Given the description of an element on the screen output the (x, y) to click on. 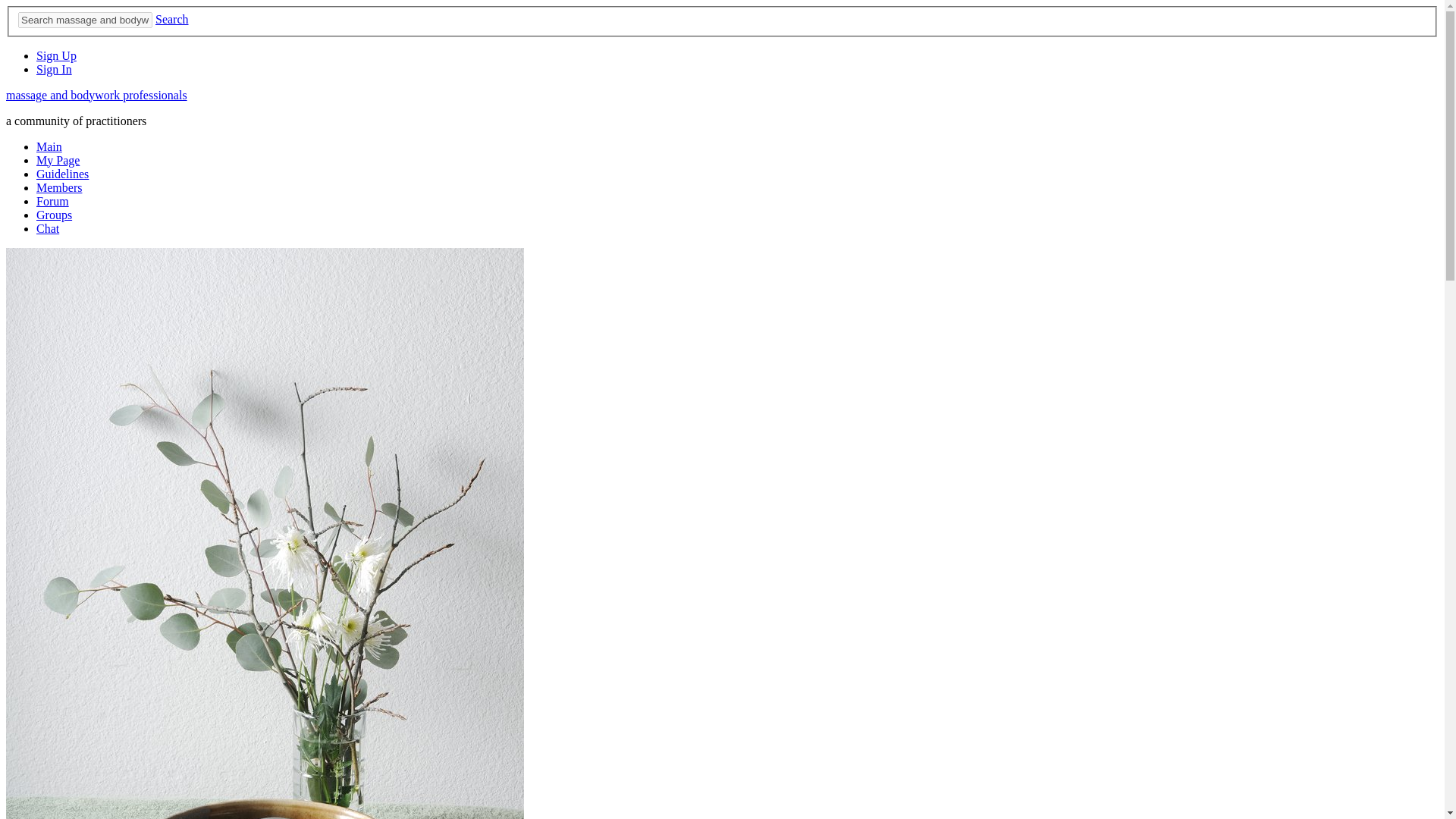
Forum (52, 201)
Guidelines (62, 173)
Members (58, 187)
Chat (47, 228)
Search massage and bodywork professionals (84, 19)
Sign In (53, 69)
Groups (53, 214)
Search massage and bodywork professionals (84, 19)
massage and bodywork professionals (96, 94)
Search (172, 19)
Sign Up (56, 55)
My Page (58, 160)
Main (49, 146)
